Given the description of an element on the screen output the (x, y) to click on. 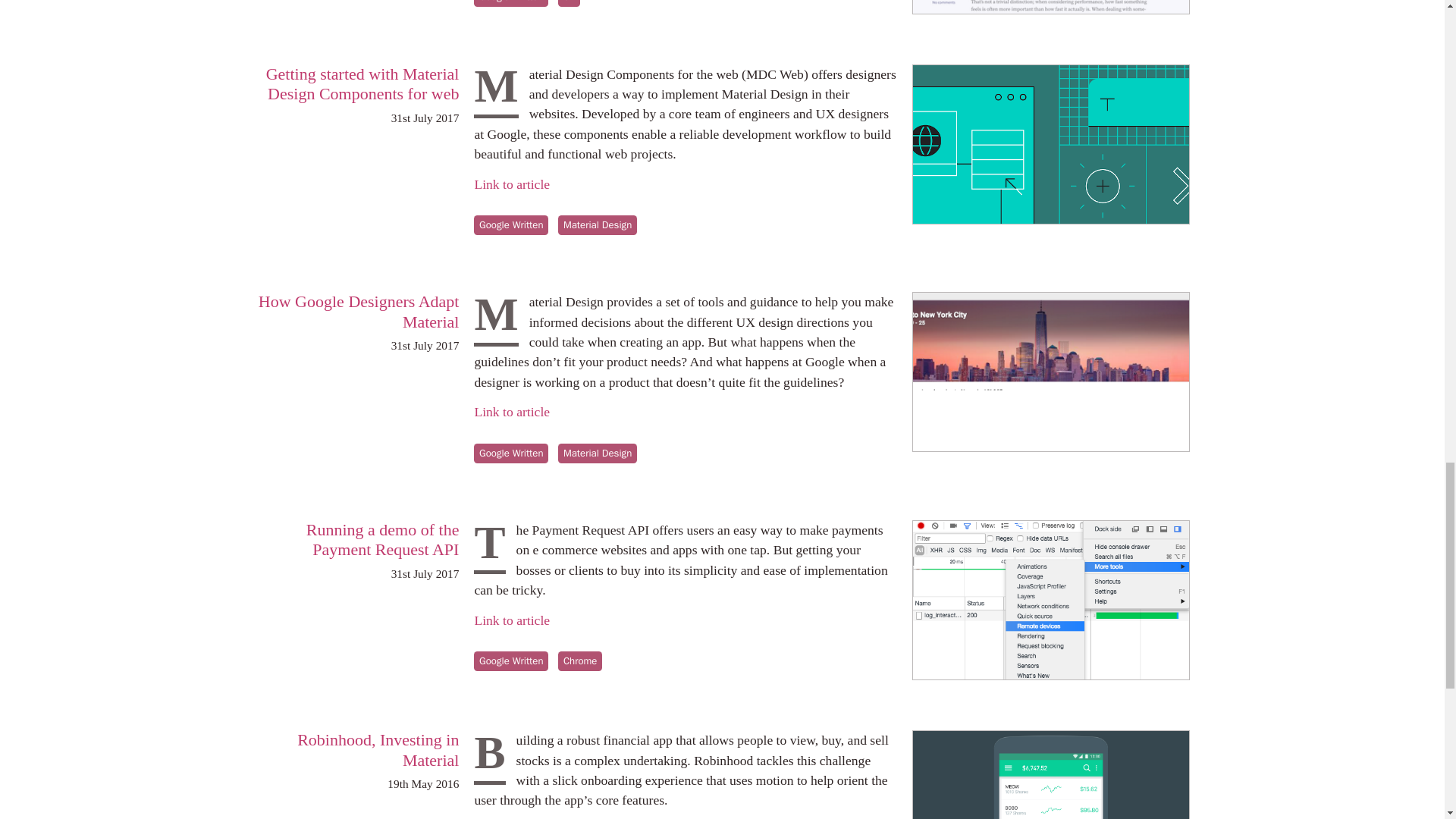
Getting started with Material Design Components for web (363, 83)
Google Written (511, 3)
UX (568, 3)
